Given the description of an element on the screen output the (x, y) to click on. 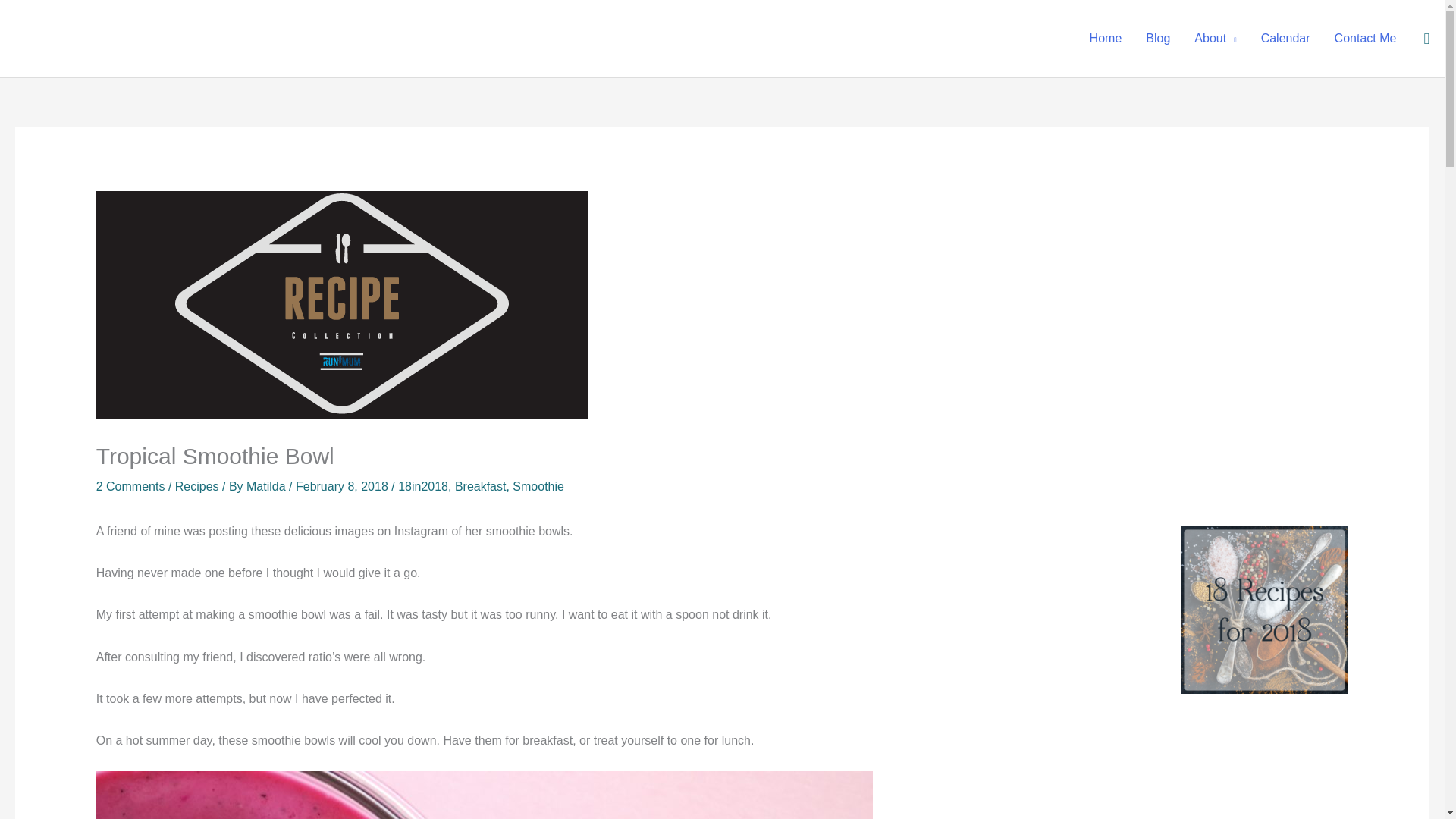
Breakfast (480, 486)
18in2018 (422, 486)
Matilda (267, 486)
Contact Me (1365, 38)
Recipes (196, 486)
About (1214, 38)
Blog (1158, 38)
Smoothie (538, 486)
Home (1105, 38)
2 Comments (130, 486)
Calendar (1285, 38)
View all posts by Matilda (267, 486)
